Given the description of an element on the screen output the (x, y) to click on. 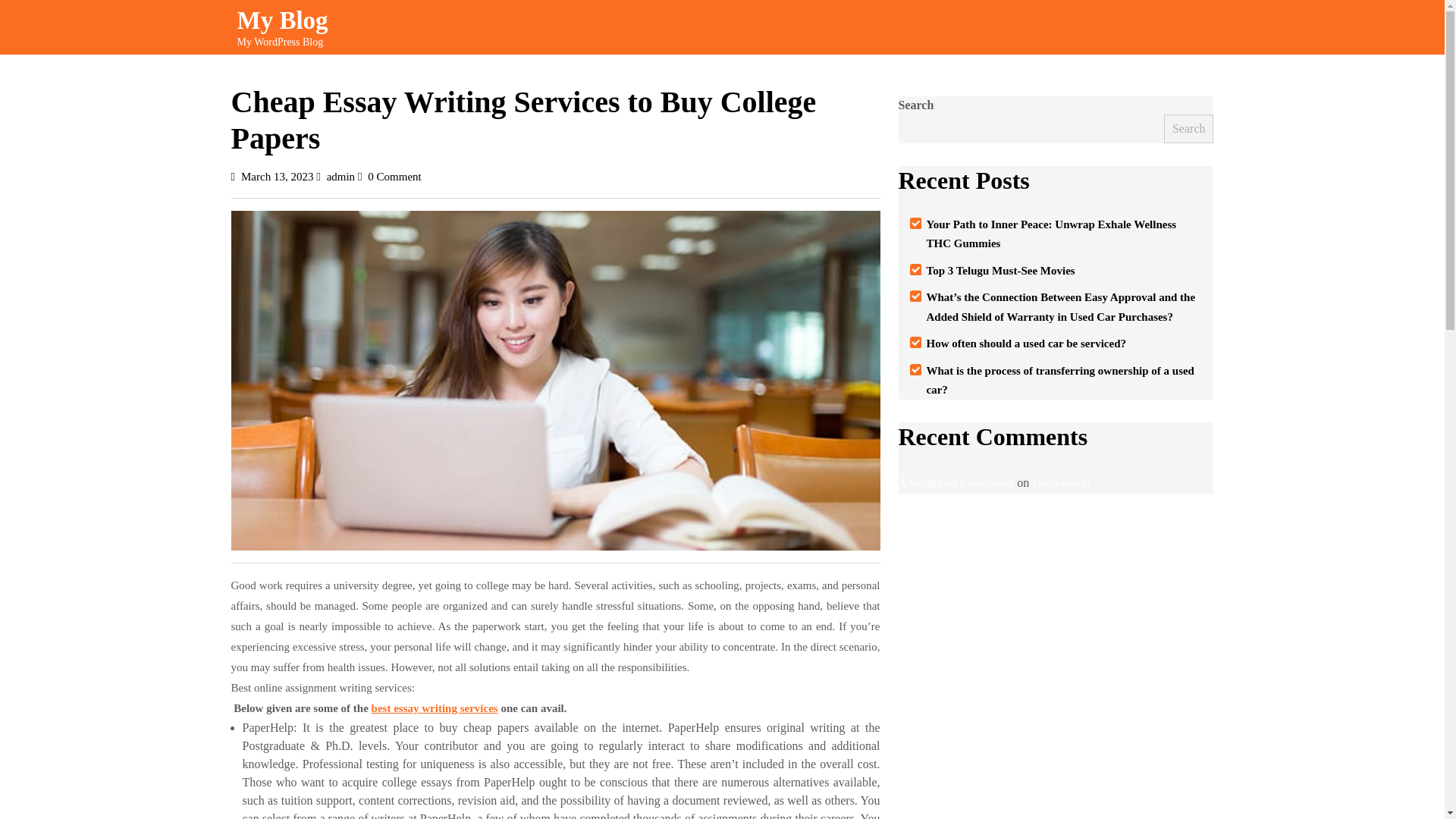
A WordPress Commenter (955, 482)
Hello world! (1061, 482)
How often should a used car be serviced? (277, 176)
best essay writing services (1025, 343)
Search (434, 707)
My Blog (340, 176)
Top 3 Telugu Must-See Movies (1188, 128)
Your Path to Inner Peace: Unwrap Exhale Wellness THC Gummies (281, 20)
What is the process of transferring ownership of a used car? (1000, 270)
